Given the description of an element on the screen output the (x, y) to click on. 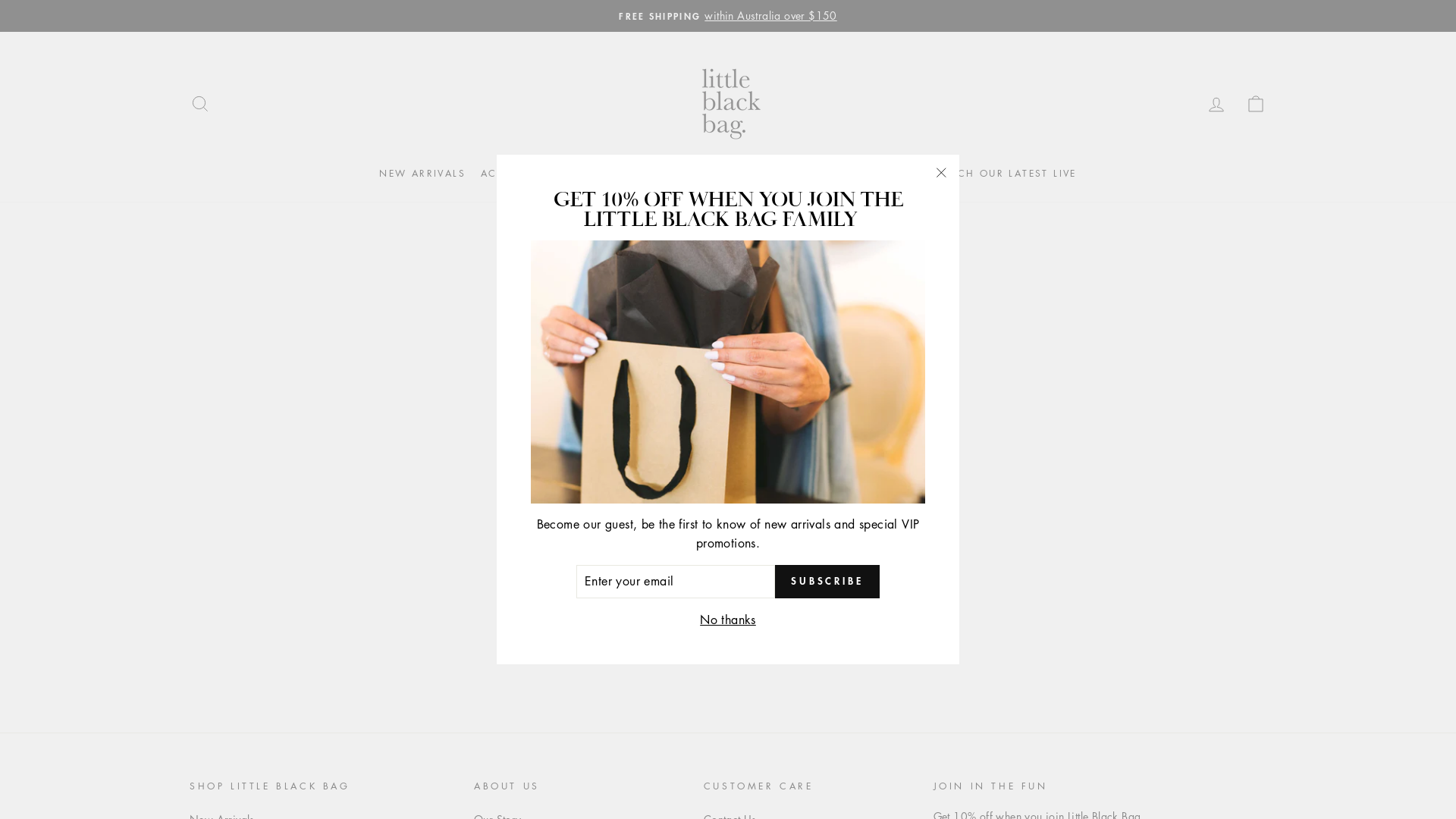
Skip to content Element type: text (0, 0)
WELCOMETo Little Black Bag Element type: text (727, 15)
NEW ARRIVALS Element type: text (422, 173)
CLOTHING Element type: text (653, 173)
CART Element type: text (1255, 103)
SUBSCRIBE Element type: text (827, 581)
LOG IN Element type: text (1216, 103)
SEARCH Element type: text (199, 103)
ACCESSORIES Element type: text (520, 173)
GIFTS Element type: text (795, 173)
BRANDS Element type: text (892, 173)
No thanks Element type: text (727, 619)
BAGS Element type: text (591, 173)
Continue shopping Element type: text (727, 392)
"Close (esc)" Element type: text (940, 172)
FOOTWEAR Element type: text (731, 173)
WATCH OUR LATEST LIVE Element type: text (1003, 173)
SALE Element type: text (840, 173)
